Given the description of an element on the screen output the (x, y) to click on. 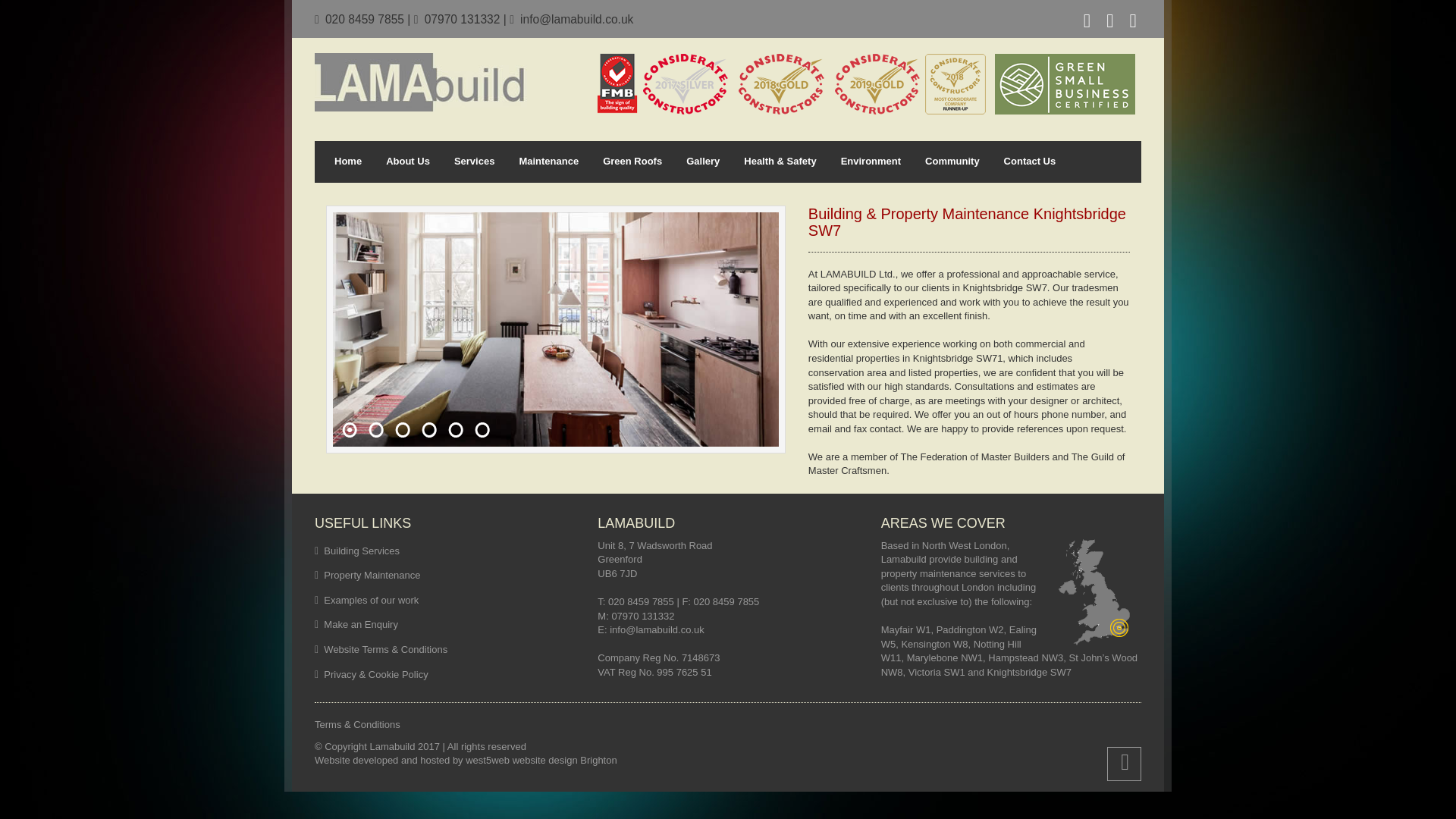
Back to Top (1123, 763)
Building Services (360, 550)
Marylebone NW1 (944, 657)
Mayfair W1 (905, 629)
Maintenance (548, 161)
Make an Enquiry (360, 624)
Contact Us (1029, 161)
Services (474, 161)
Gallery (703, 161)
About Us (408, 161)
Examples of our work (371, 600)
Hampstead NW3 (1025, 657)
Green Roofs (632, 161)
Kensington W8 (934, 644)
